Given the description of an element on the screen output the (x, y) to click on. 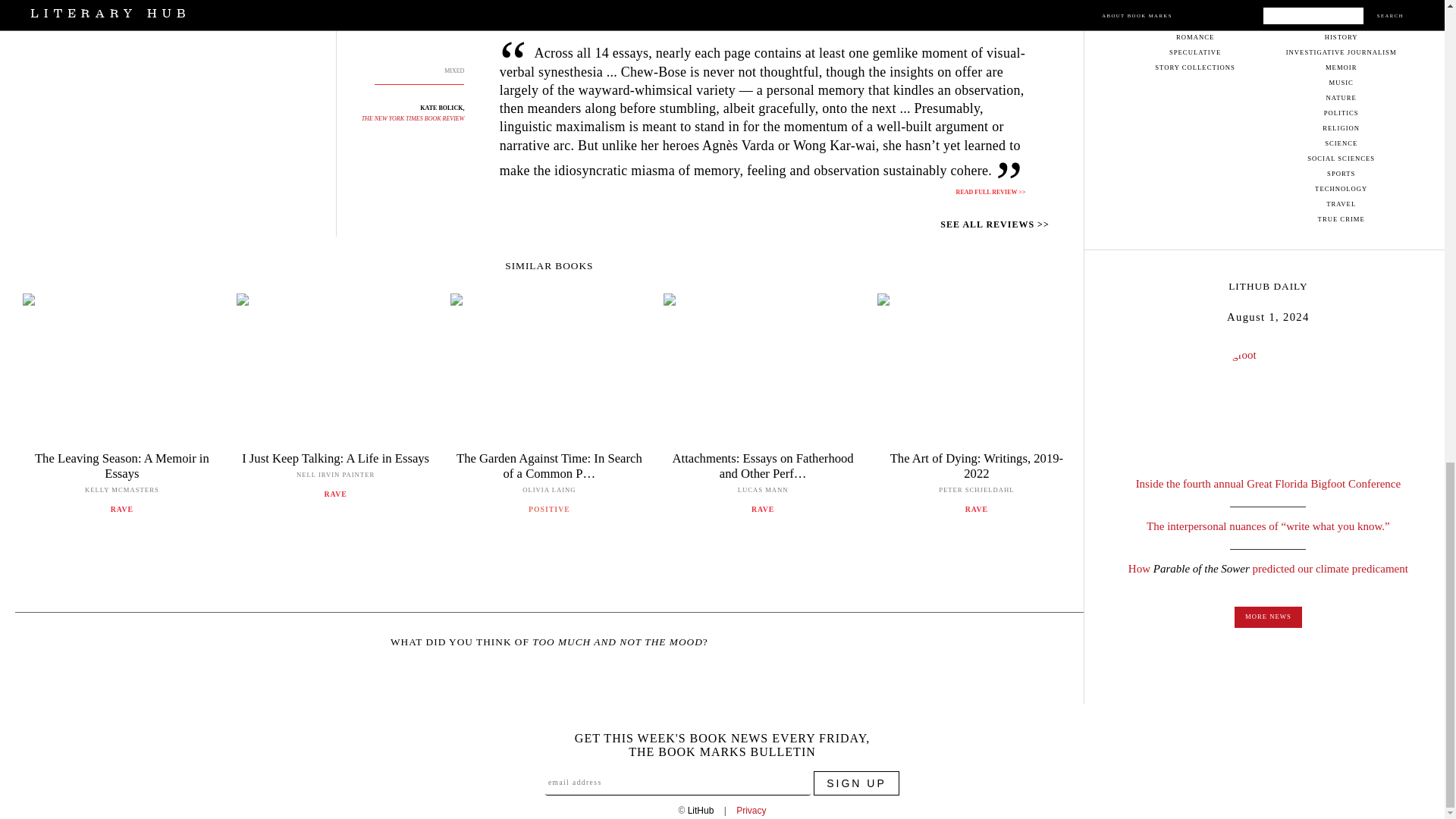
KATE BOLICK, (442, 107)
Sign Up (856, 783)
THE NEW YORK TIMES BOOK REVIEW (412, 118)
